Given the description of an element on the screen output the (x, y) to click on. 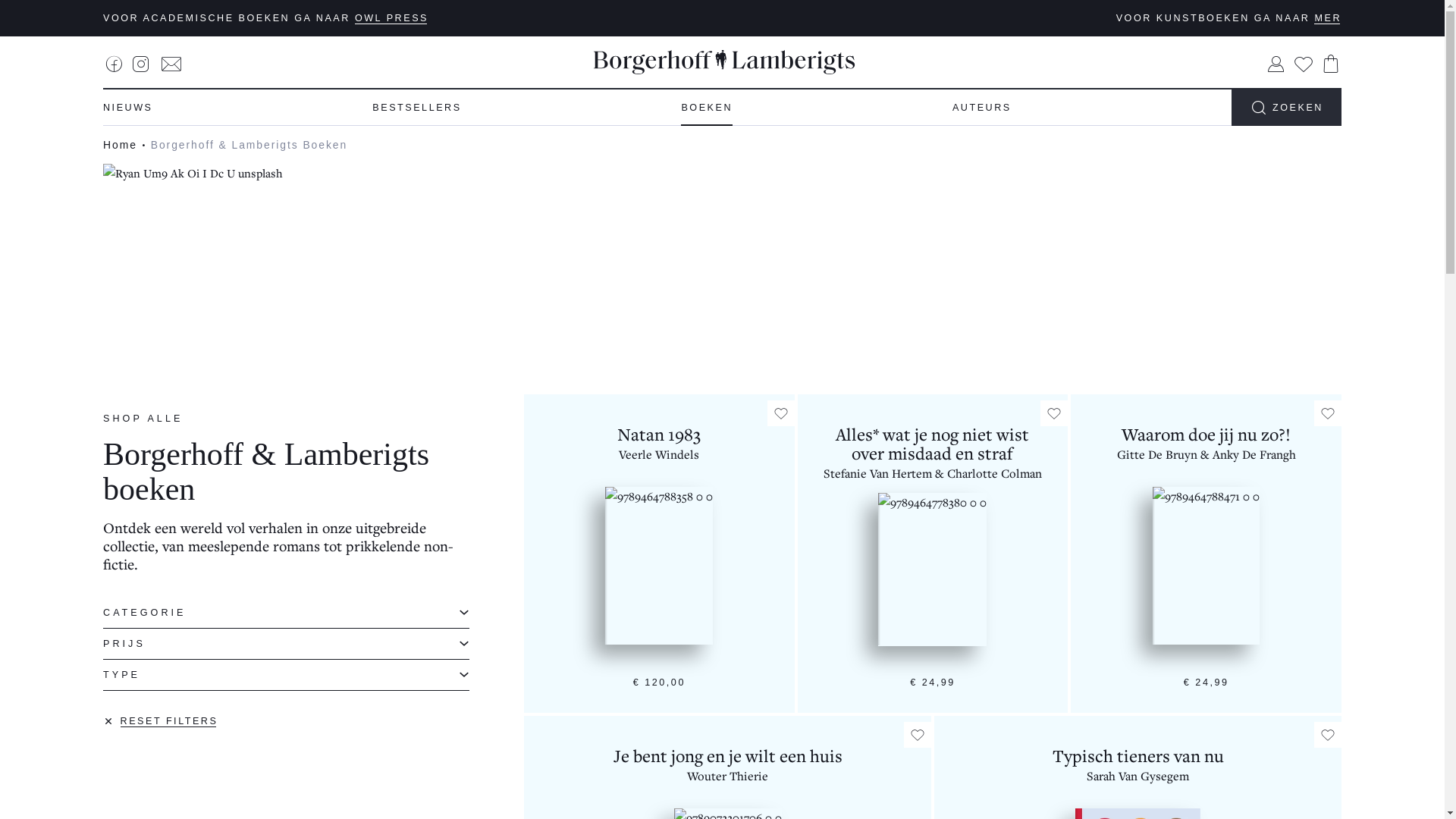
Home Element type: text (120, 144)
Charlotte Colman Element type: text (994, 472)
Stefanie Van Hertem Element type: text (877, 472)
VOOR ACADEMISCHE BOEKEN GA NAAR
  OWL PRESS Element type: text (265, 18)
Add to List Element type: text (917, 734)
Wouter Thierie Element type: text (727, 775)
Add to List Element type: text (1327, 734)
Sarah Van Gysegem Element type: text (1137, 775)
ZOEKEN Element type: text (1286, 107)
NIEUWS Element type: text (128, 107)
Veerle Windels Element type: text (658, 453)
Add to List Element type: text (1327, 413)
BESTSELLERS Element type: text (416, 107)
Add to List Element type: text (780, 413)
Anky De Frangh Element type: text (1253, 453)
Add to List Element type: text (1053, 413)
AUTEURS Element type: text (981, 107)
RESET FILTERS Element type: text (160, 721)
BOEKEN Element type: text (706, 107)
VOOR KUNSTBOEKEN GA NAAR
  MER Element type: text (1228, 18)
Gitte De Bruyn Element type: text (1157, 453)
